Given the description of an element on the screen output the (x, y) to click on. 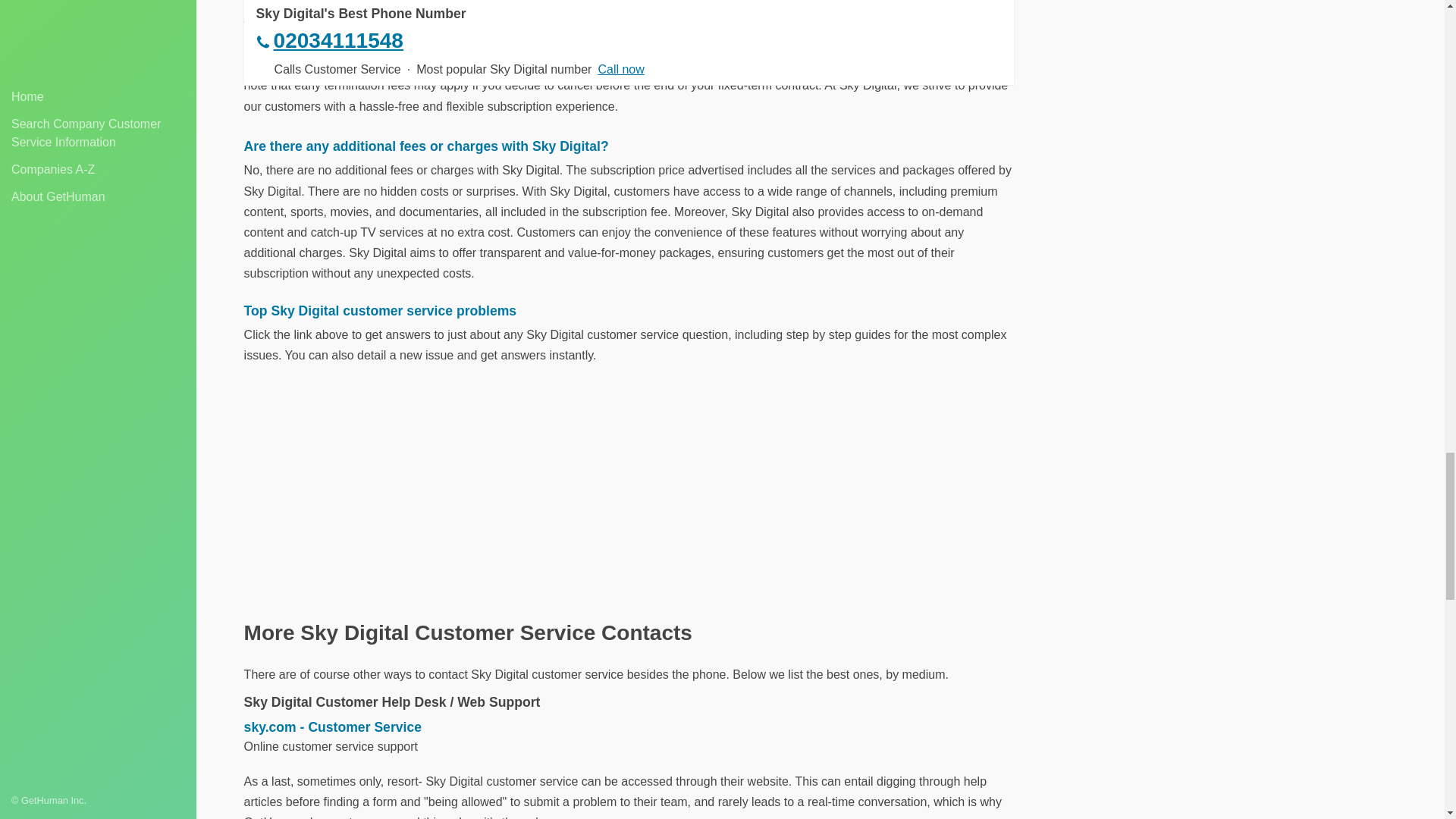
Top Sky Digital customer service problems (629, 311)
sky.com - Customer Service (629, 727)
Are there any additional fees or charges with Sky Digital? (629, 146)
